Given the description of an element on the screen output the (x, y) to click on. 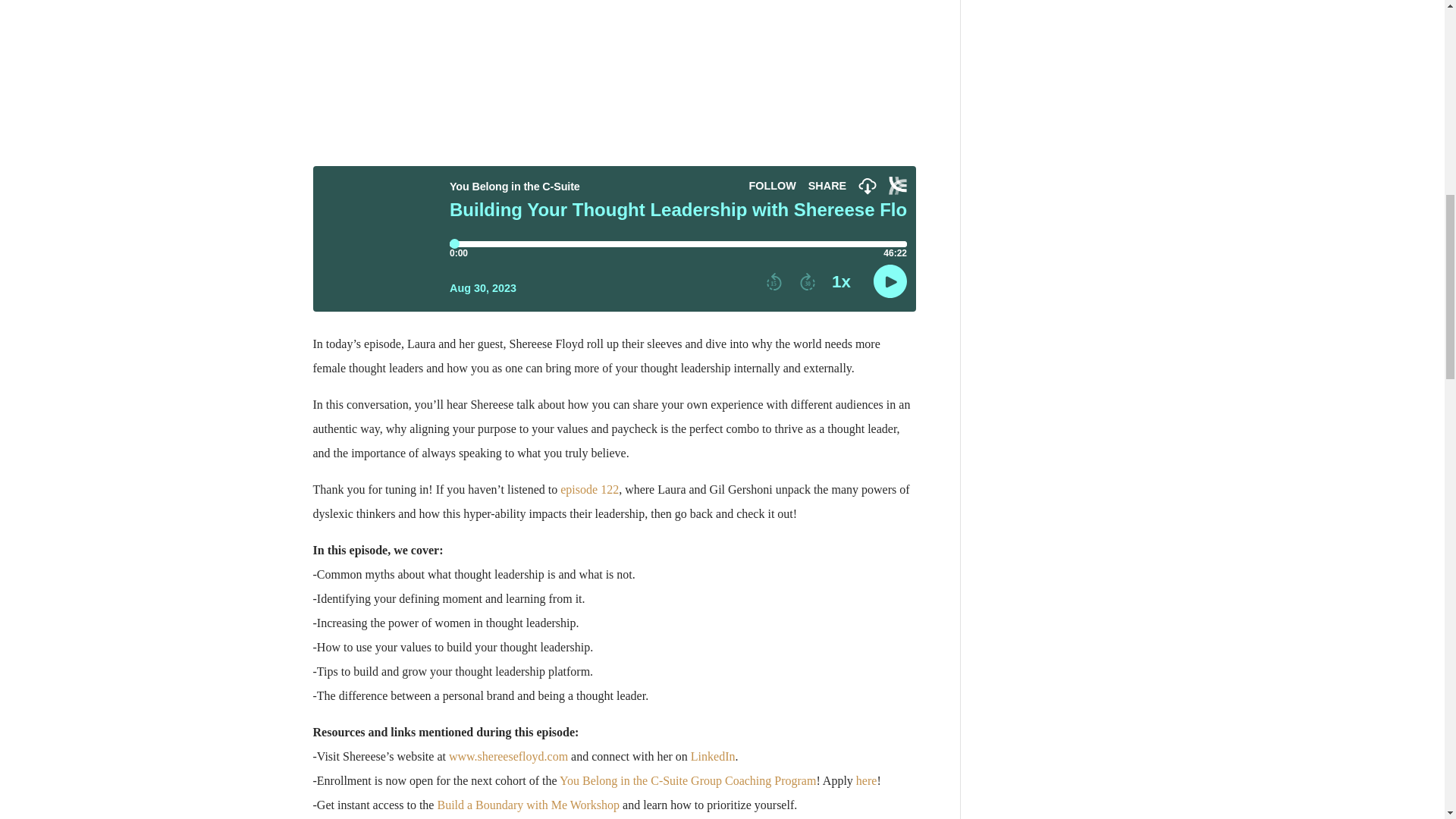
www.shereesefloyd.com (507, 756)
LinkedIn (712, 756)
here (866, 780)
Embed Player (614, 239)
Build a Boundary with Me Workshop (528, 804)
episode 122 (589, 489)
You Belong in the C-Suite Group Coaching Program (687, 780)
